Given the description of an element on the screen output the (x, y) to click on. 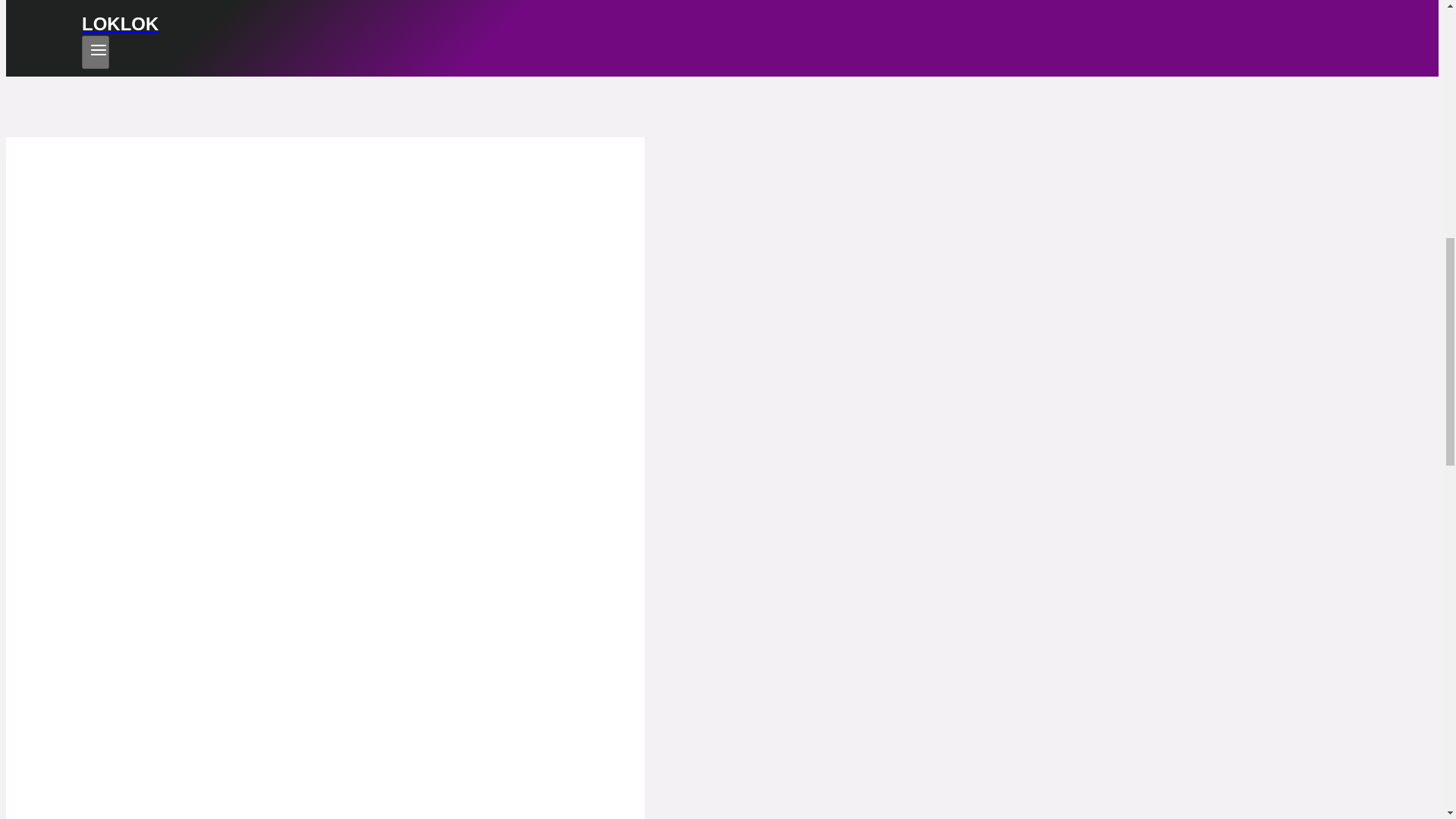
Toggle Menu (97, 49)
LOKLOK (570, 17)
